Given the description of an element on the screen output the (x, y) to click on. 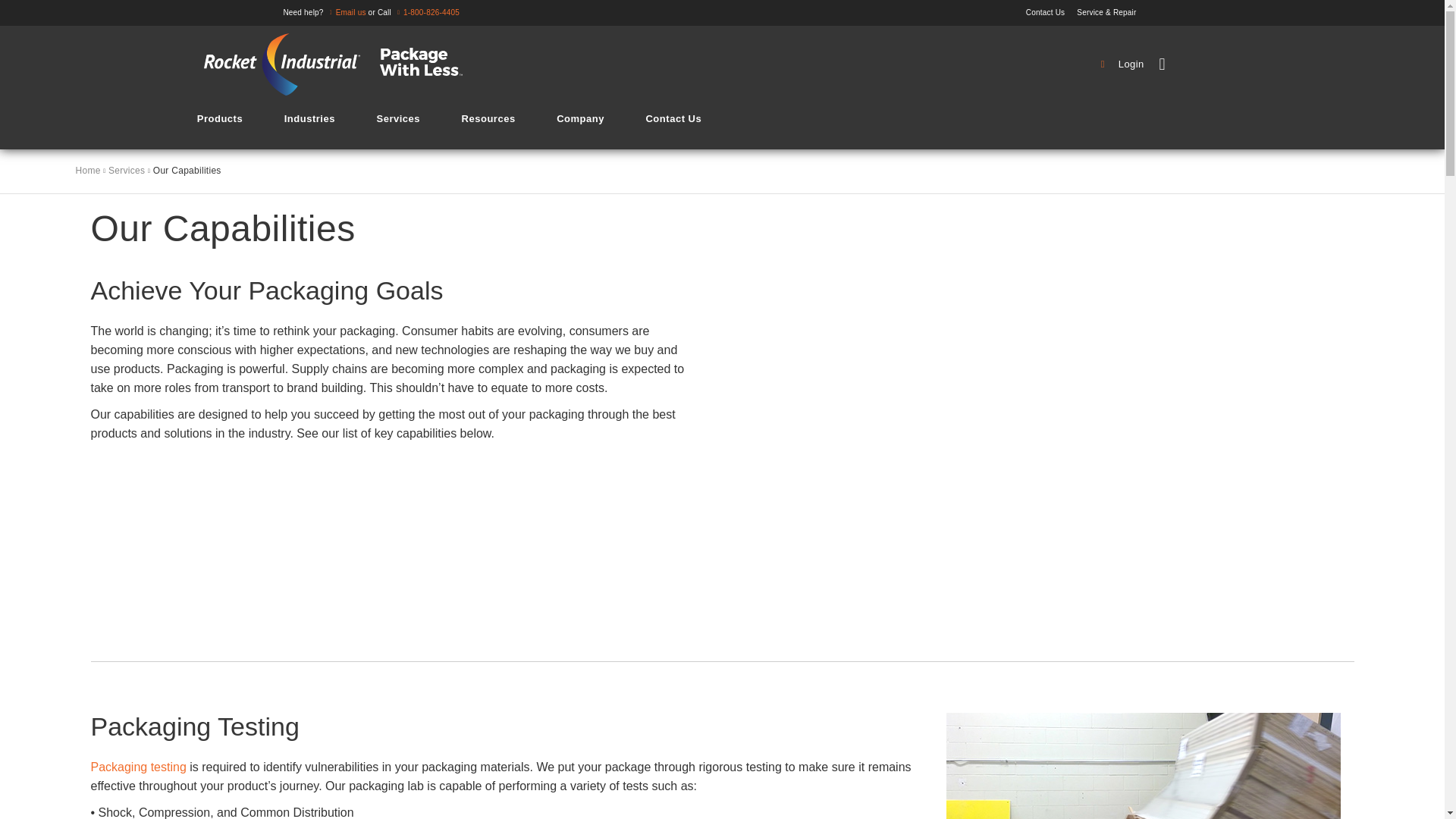
My Cart (1207, 64)
Contact Us (1051, 12)
Products (219, 118)
Contact Us (1051, 12)
Email us (346, 12)
1-800-826-4405 (426, 12)
Login (1124, 64)
Rocket Industrial Logo (342, 64)
